Given the description of an element on the screen output the (x, y) to click on. 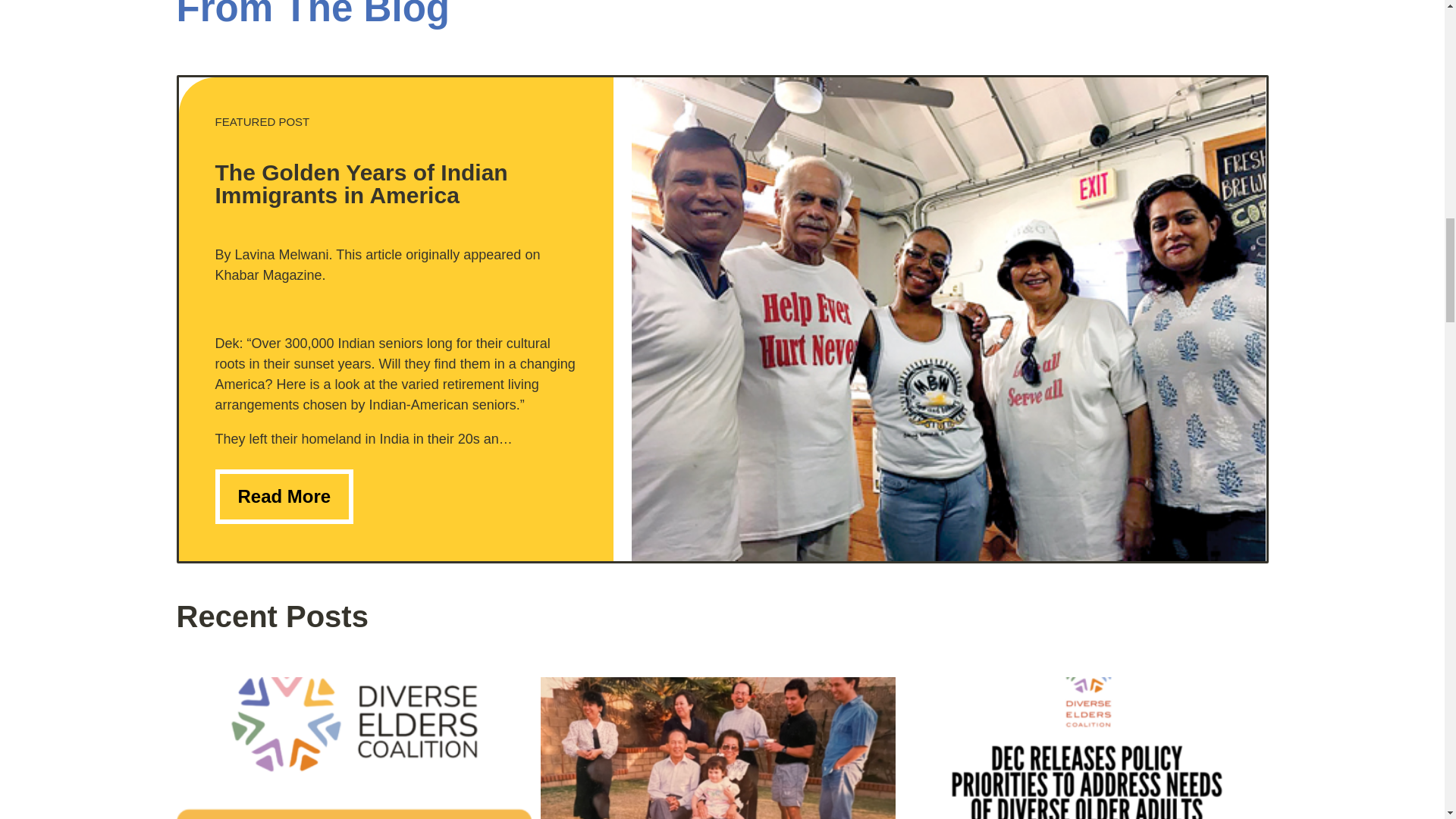
The Golden Years of Indian Immigrants in America (361, 183)
Read More (284, 496)
